Given the description of an element on the screen output the (x, y) to click on. 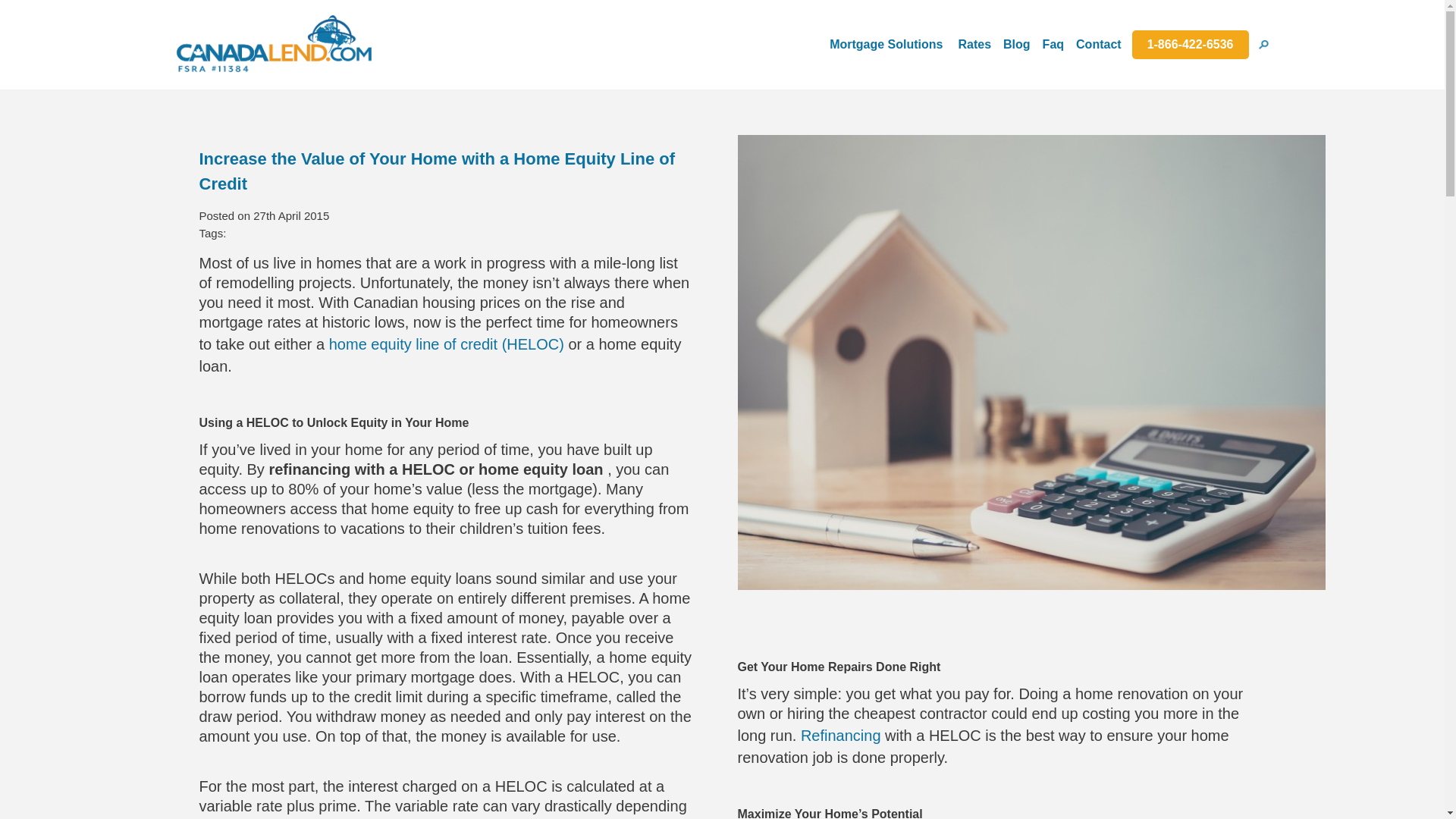
Contact (1098, 44)
Blog (1016, 44)
Professional Mortgage Broker  - Canadalend (273, 43)
Mortgage Solutions (885, 44)
Faq (1053, 44)
Faq (1053, 44)
Blog (1016, 44)
Refinancing  (842, 735)
Rates (974, 44)
1-866-422-6536 (1190, 44)
